Given the description of an element on the screen output the (x, y) to click on. 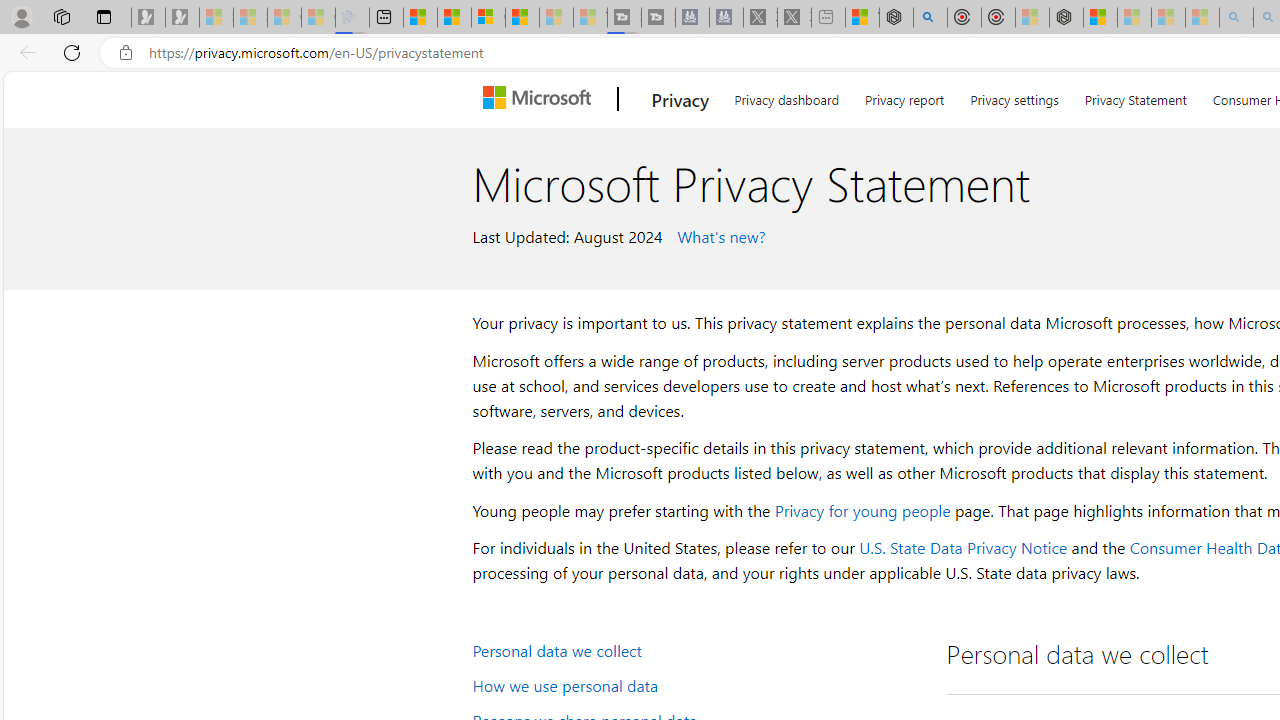
Privacy dashboard (786, 96)
How we use personal data (696, 684)
Privacy settings (1014, 96)
Overview (488, 17)
